Given the description of an element on the screen output the (x, y) to click on. 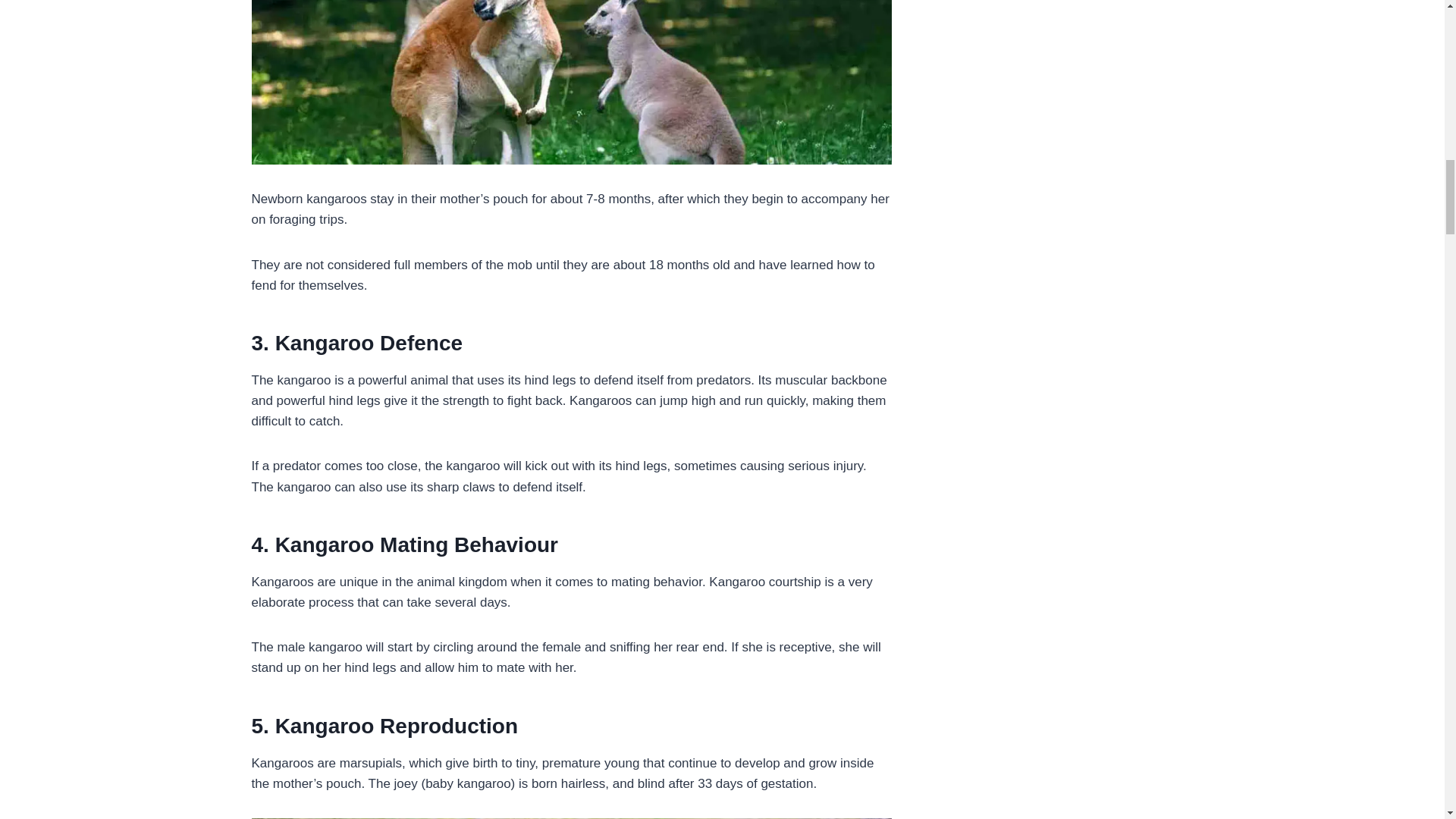
Behaviour (505, 544)
